Given the description of an element on the screen output the (x, y) to click on. 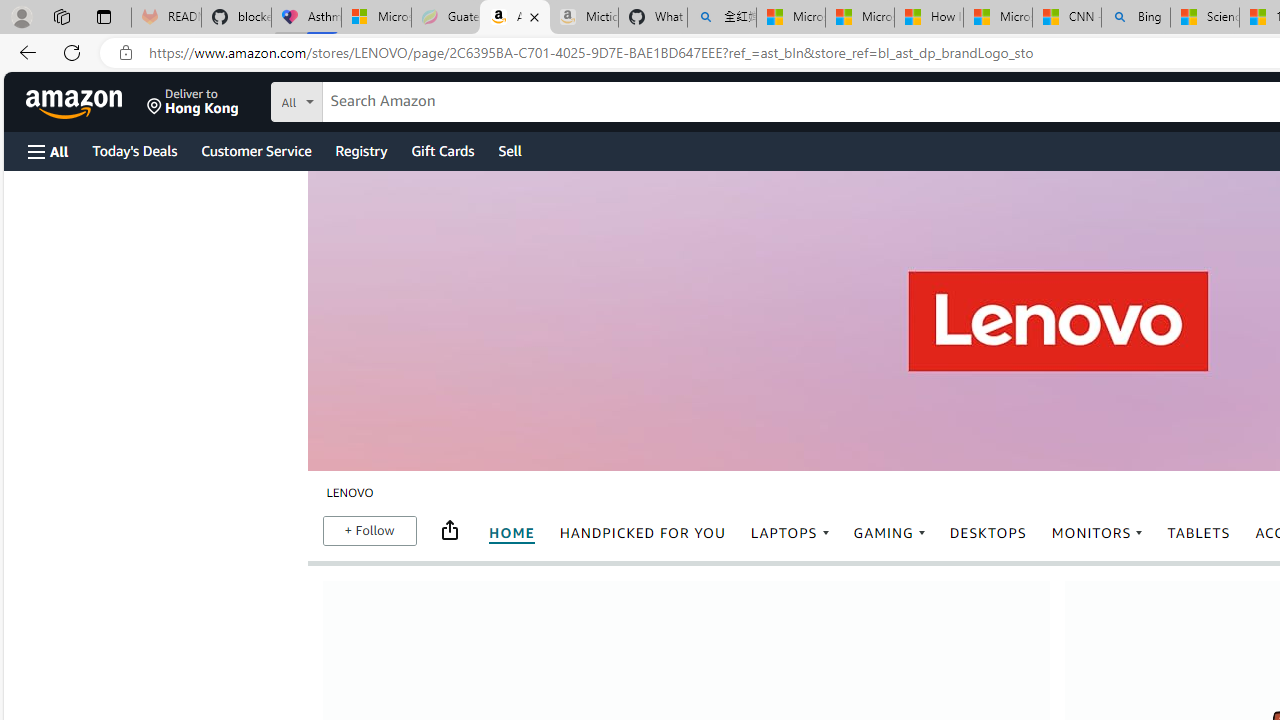
Deliver to Hong Kong (193, 101)
CNN - MSN (1066, 17)
LENOVO breadcrumb (347, 494)
Today's Deals (134, 150)
GAMING (889, 533)
HANDPICKED FOR YOU (642, 533)
Registry (360, 150)
Open Menu (48, 151)
